Given the description of an element on the screen output the (x, y) to click on. 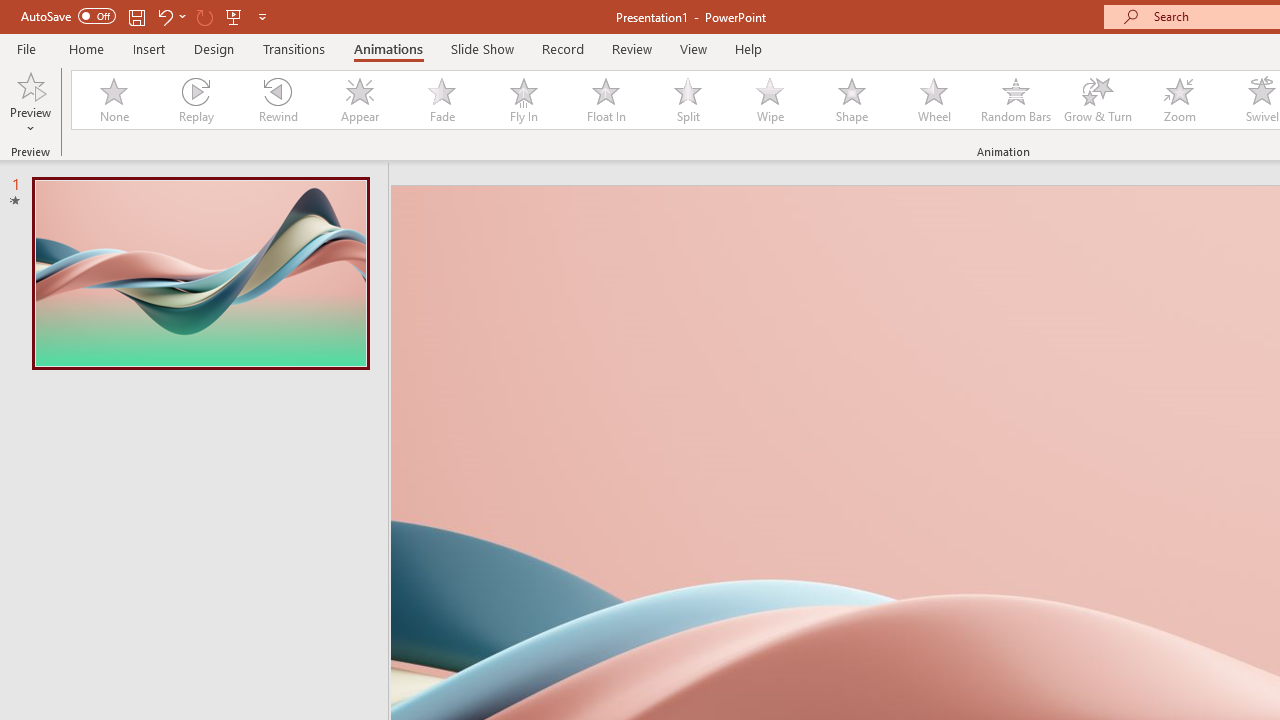
Split (687, 100)
